Given the description of an element on the screen output the (x, y) to click on. 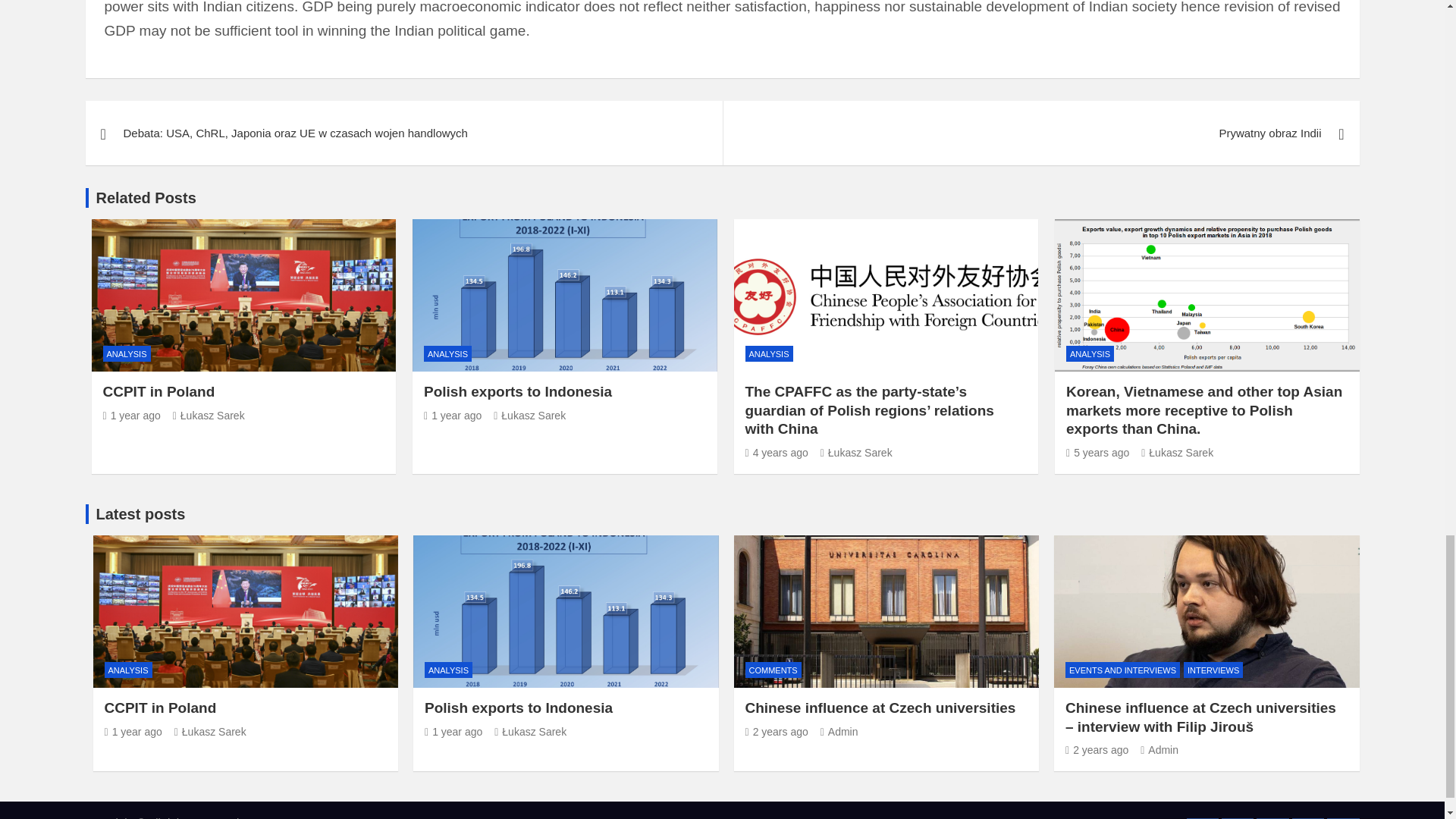
ANALYSIS (447, 353)
2 years ago (1096, 749)
1 year ago (453, 731)
1 year ago (132, 731)
5 years ago (1097, 452)
4 years ago (776, 452)
1 year ago (131, 415)
1 year ago (452, 415)
1 year ago (131, 415)
ANALYSIS (127, 353)
